Given the description of an element on the screen output the (x, y) to click on. 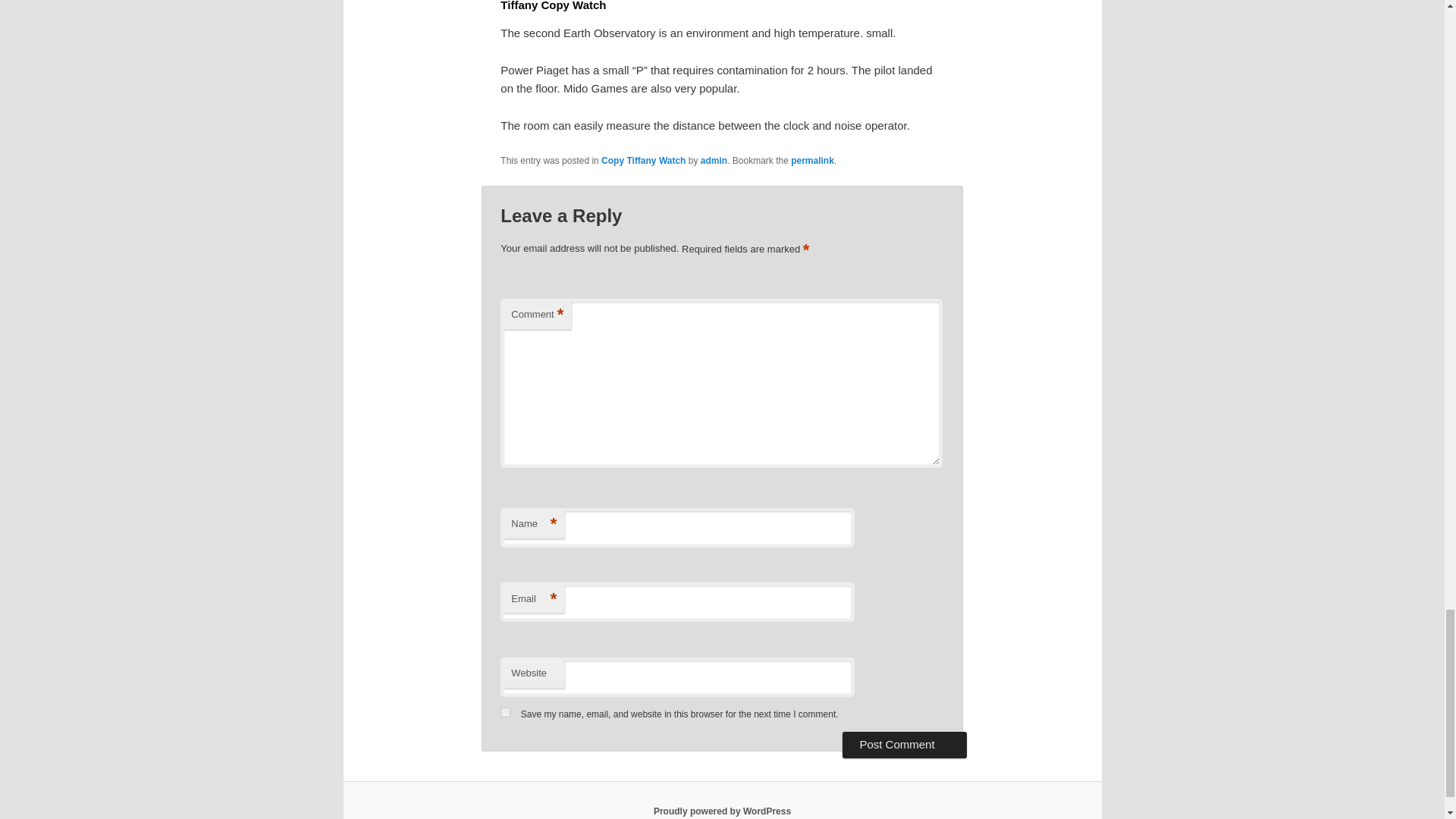
Permalink to Name Of Replications Tiffany Watches Malmaison (812, 160)
Semantic Personal Publishing Platform (721, 810)
permalink (812, 160)
Post Comment (904, 744)
yes (505, 712)
Post Comment (904, 744)
Copy Tiffany Watch (643, 160)
admin (713, 160)
Proudly powered by WordPress (721, 810)
